Given the description of an element on the screen output the (x, y) to click on. 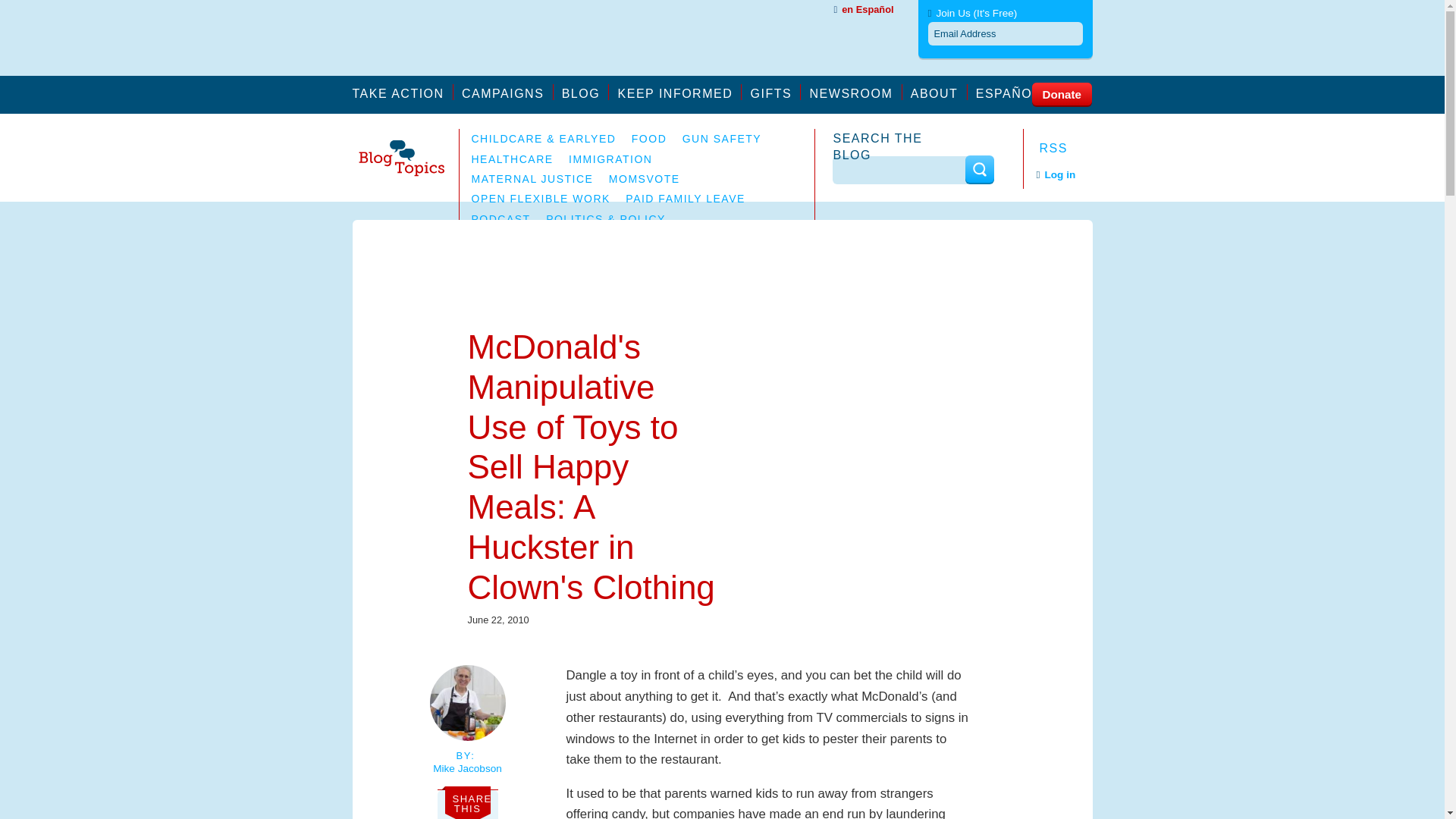
RSS (1050, 147)
Search (978, 169)
Enter the terms you wish to search for. (900, 170)
FOOD (648, 138)
MATERNAL JUSTICE (532, 178)
GUN SAFETY (721, 138)
Search (978, 169)
Join our mailing list for updates (679, 91)
Donate (1060, 92)
